Given the description of an element on the screen output the (x, y) to click on. 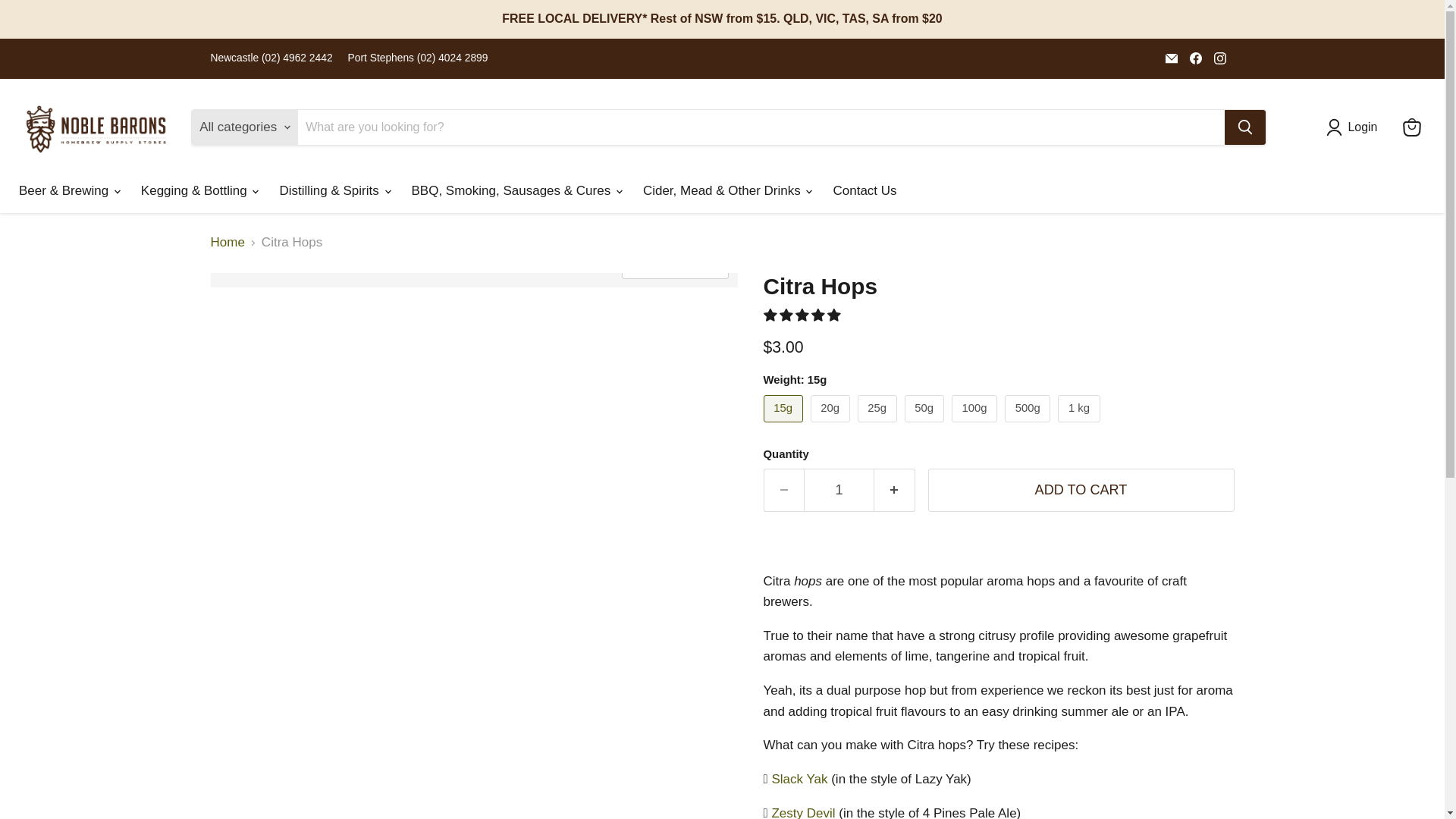
Email (1171, 57)
Login (1355, 126)
Facebook (1196, 57)
Find us on Facebook (1196, 57)
Instagram (1219, 57)
View cart (1411, 127)
Email Newcastle Brew Shop (1171, 57)
Find us on Instagram (1219, 57)
1 (839, 489)
